Given the description of an element on the screen output the (x, y) to click on. 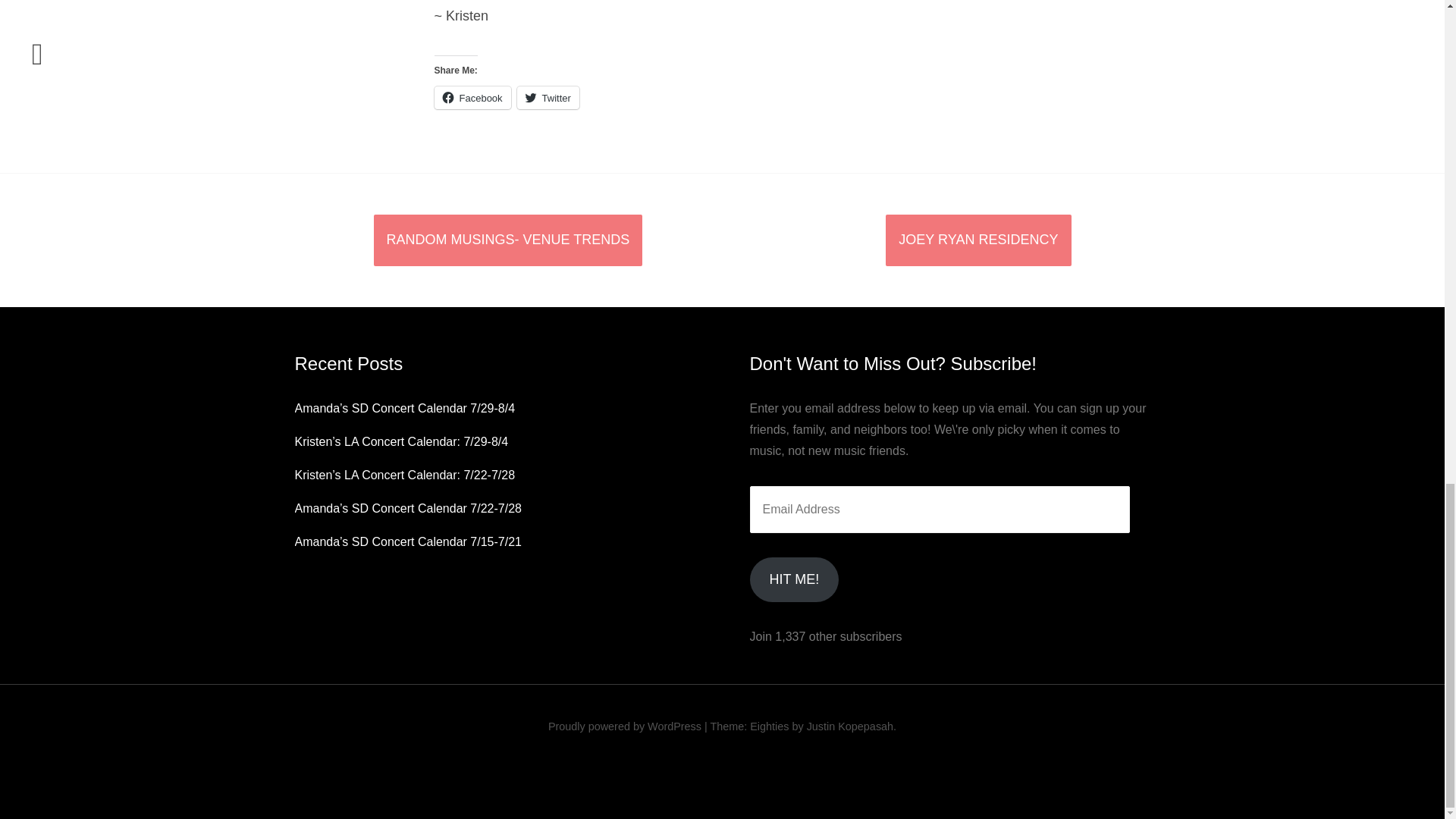
Click to share on Twitter (547, 97)
RANDOM MUSINGS- VENUE TRENDS (507, 240)
Twitter (547, 97)
Facebook (472, 97)
HIT ME! (793, 579)
Click to share on Facebook (472, 97)
JOEY RYAN RESIDENCY (977, 240)
